Given the description of an element on the screen output the (x, y) to click on. 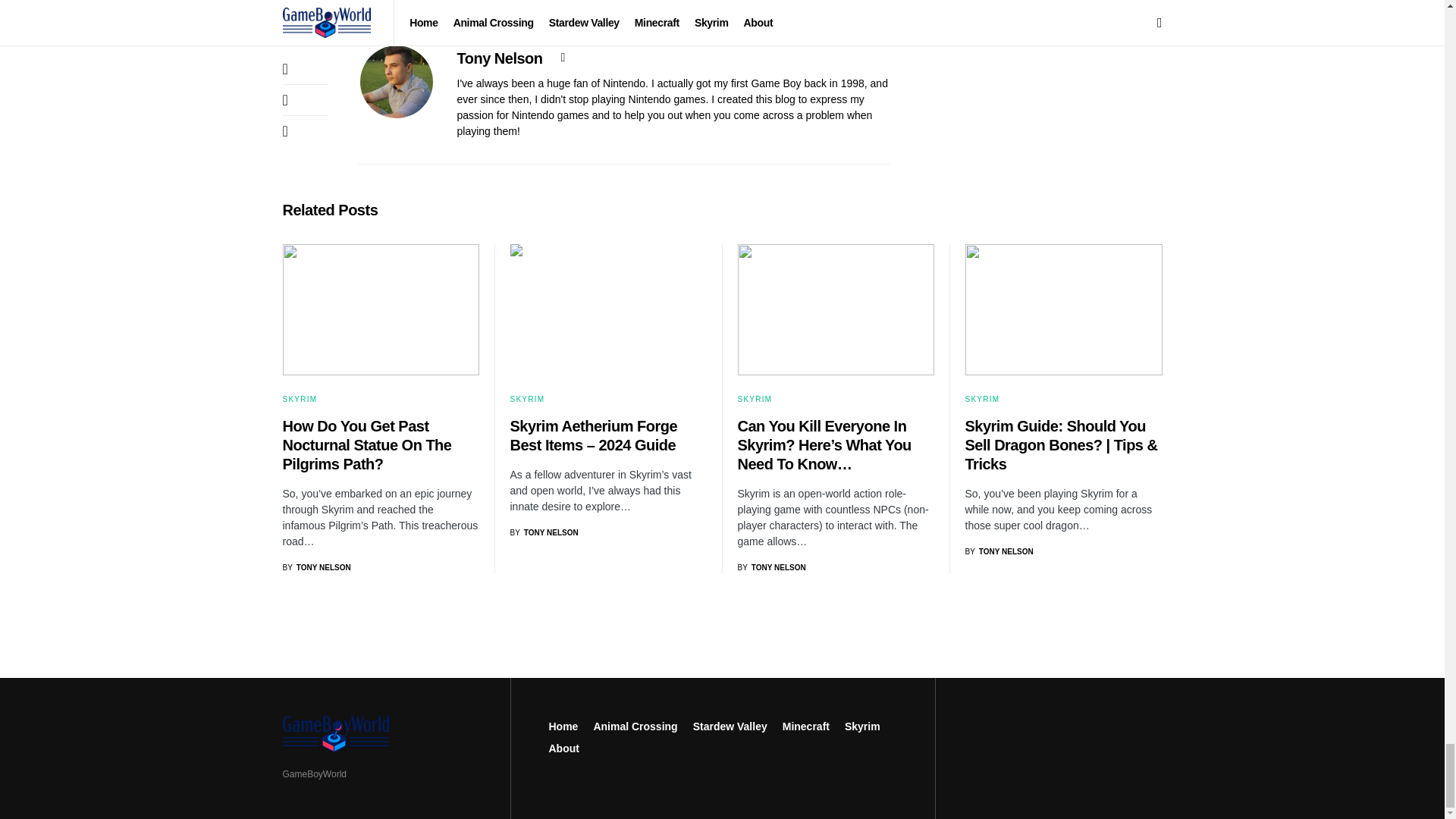
View all posts by Tony Nelson (316, 567)
View all posts by Tony Nelson (543, 532)
View all posts by Tony Nelson (770, 567)
View all posts by Tony Nelson (997, 551)
